Given the description of an element on the screen output the (x, y) to click on. 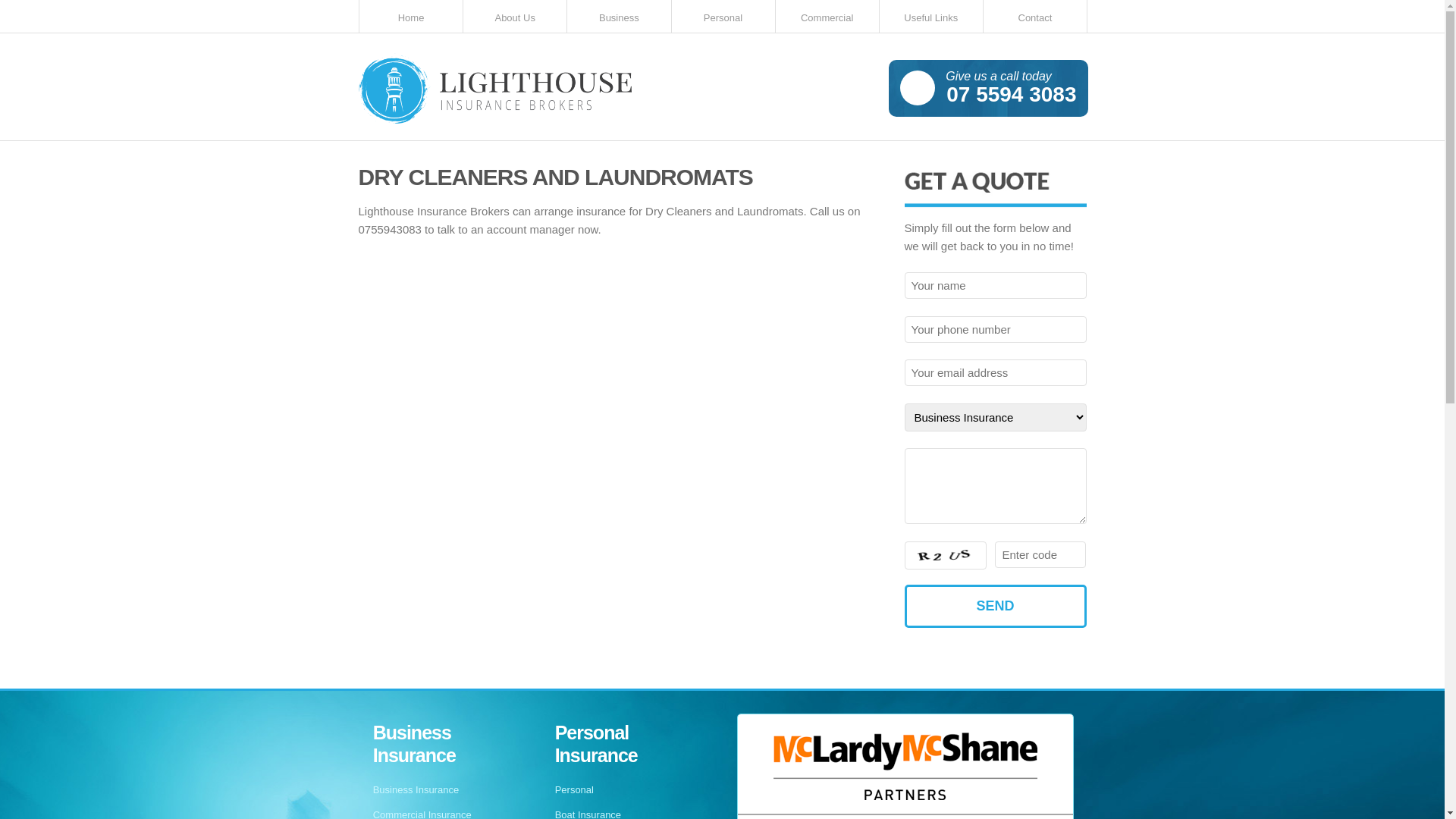
Lighthouse Insurance Brokers Element type: hover (493, 91)
Home Element type: text (410, 16)
Personal Element type: text (722, 16)
Send Element type: text (995, 605)
Personal Element type: text (574, 789)
About Us Element type: text (514, 16)
Business Element type: text (618, 16)
Contact Element type: text (1034, 16)
Business Insurance Element type: text (415, 789)
Useful Links Element type: text (930, 16)
Commercial Element type: text (826, 16)
